Given the description of an element on the screen output the (x, y) to click on. 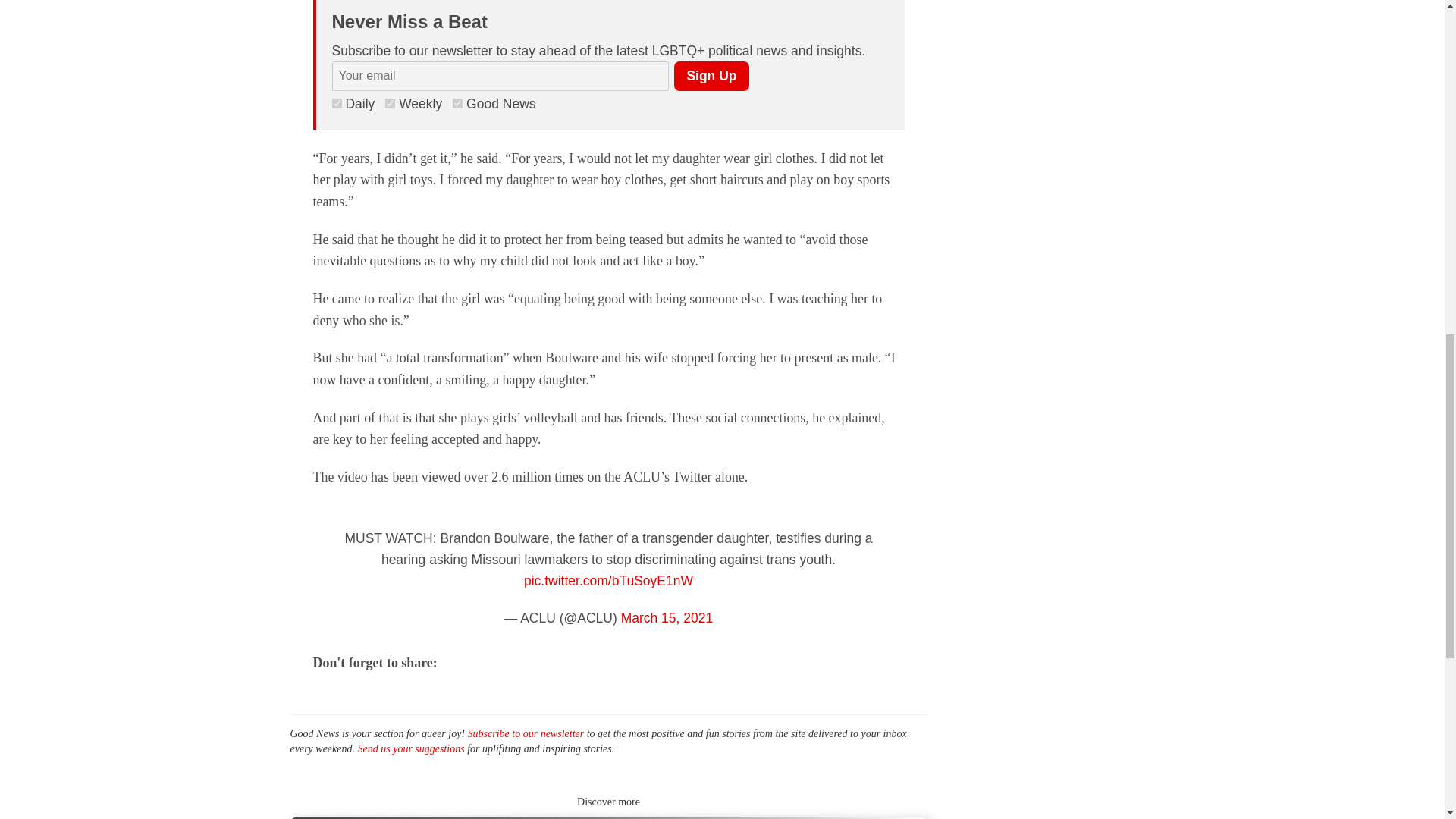
1920884 (389, 103)
Sign Up (711, 75)
1920885 (336, 103)
March 15, 2021 (667, 617)
1920883 (457, 103)
